Given the description of an element on the screen output the (x, y) to click on. 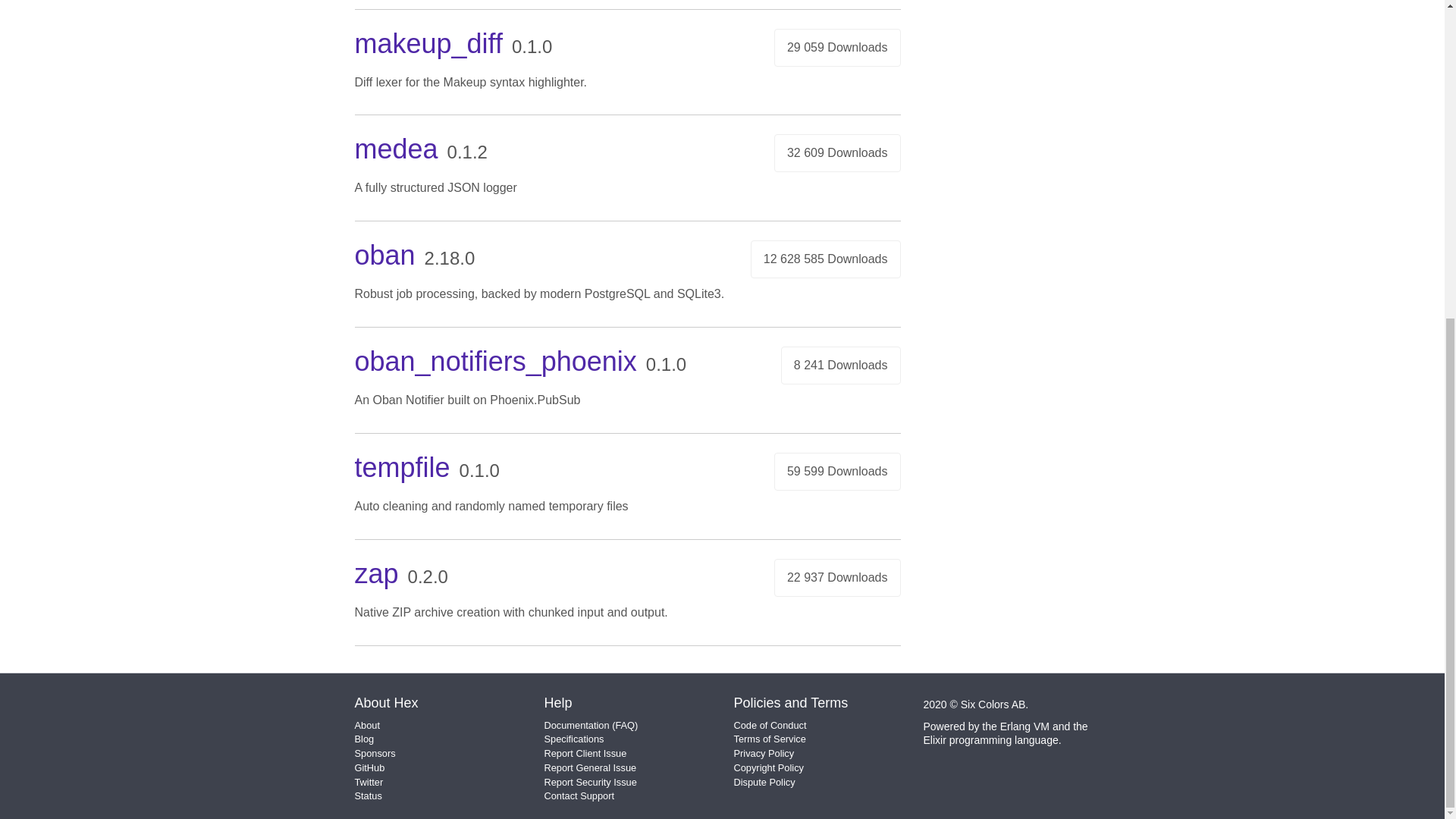
Contact Support (579, 795)
Privacy Policy (763, 753)
Report Client Issue (585, 753)
Report General Issue (590, 767)
oban (384, 255)
Status (368, 795)
About (367, 725)
tempfile (402, 467)
Twitter (369, 781)
Dispute Policy (763, 781)
